Given the description of an element on the screen output the (x, y) to click on. 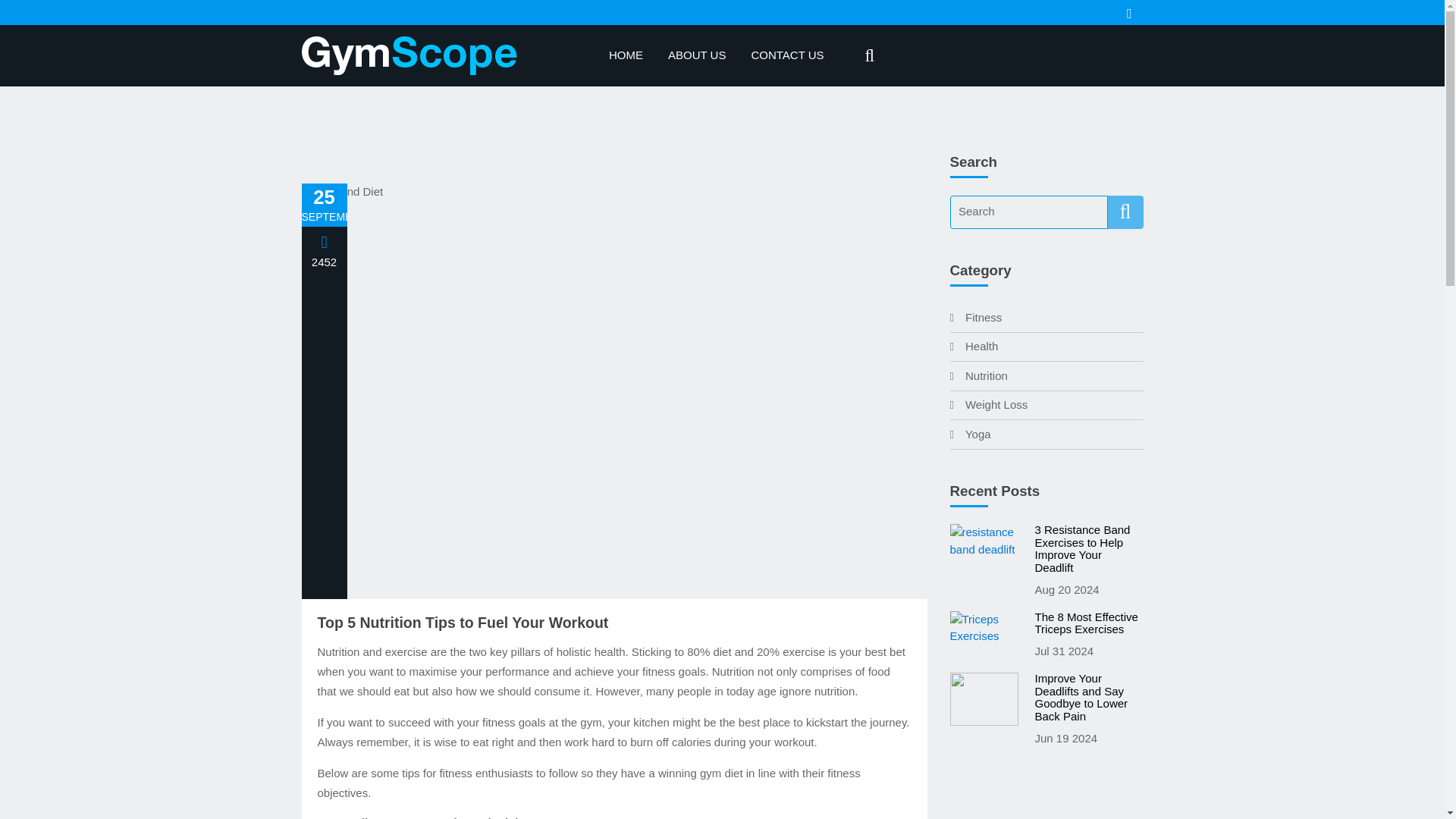
Yoga (969, 433)
Health (973, 345)
HOME (625, 55)
Top 5 Nutrition Tips to Fuel Your Workout (614, 622)
Weight Loss (988, 404)
The 8 Most Effective Triceps Exercises (1087, 623)
Improve Your Deadlifts and Say Goodbye to Lower Back Pain (1087, 697)
CONTACT US (786, 55)
3 Resistance Band Exercises to Help Improve Your Deadlift (1087, 549)
Nutrition (978, 375)
